Given the description of an element on the screen output the (x, y) to click on. 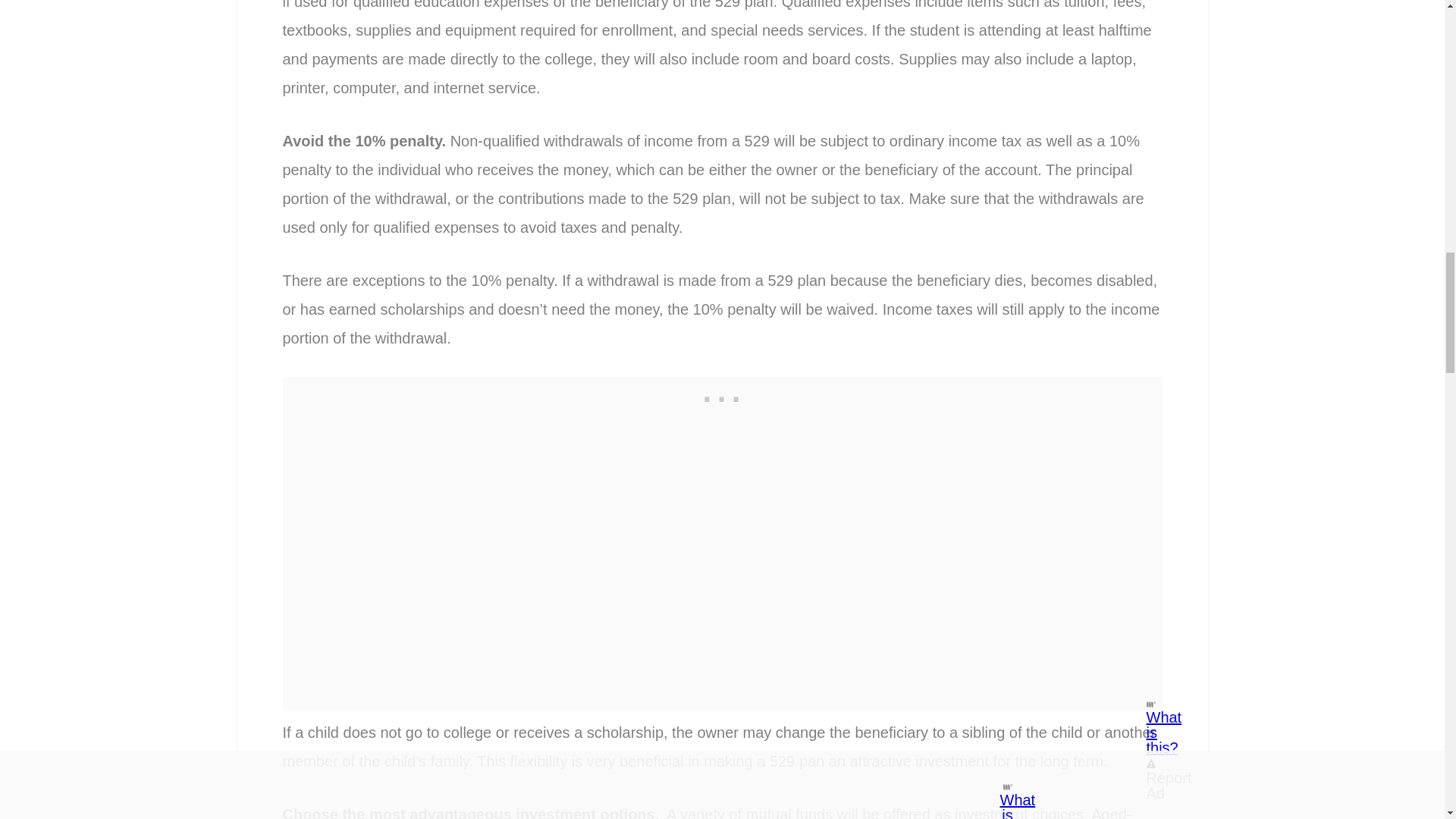
3rd party ad content (721, 395)
